Given the description of an element on the screen output the (x, y) to click on. 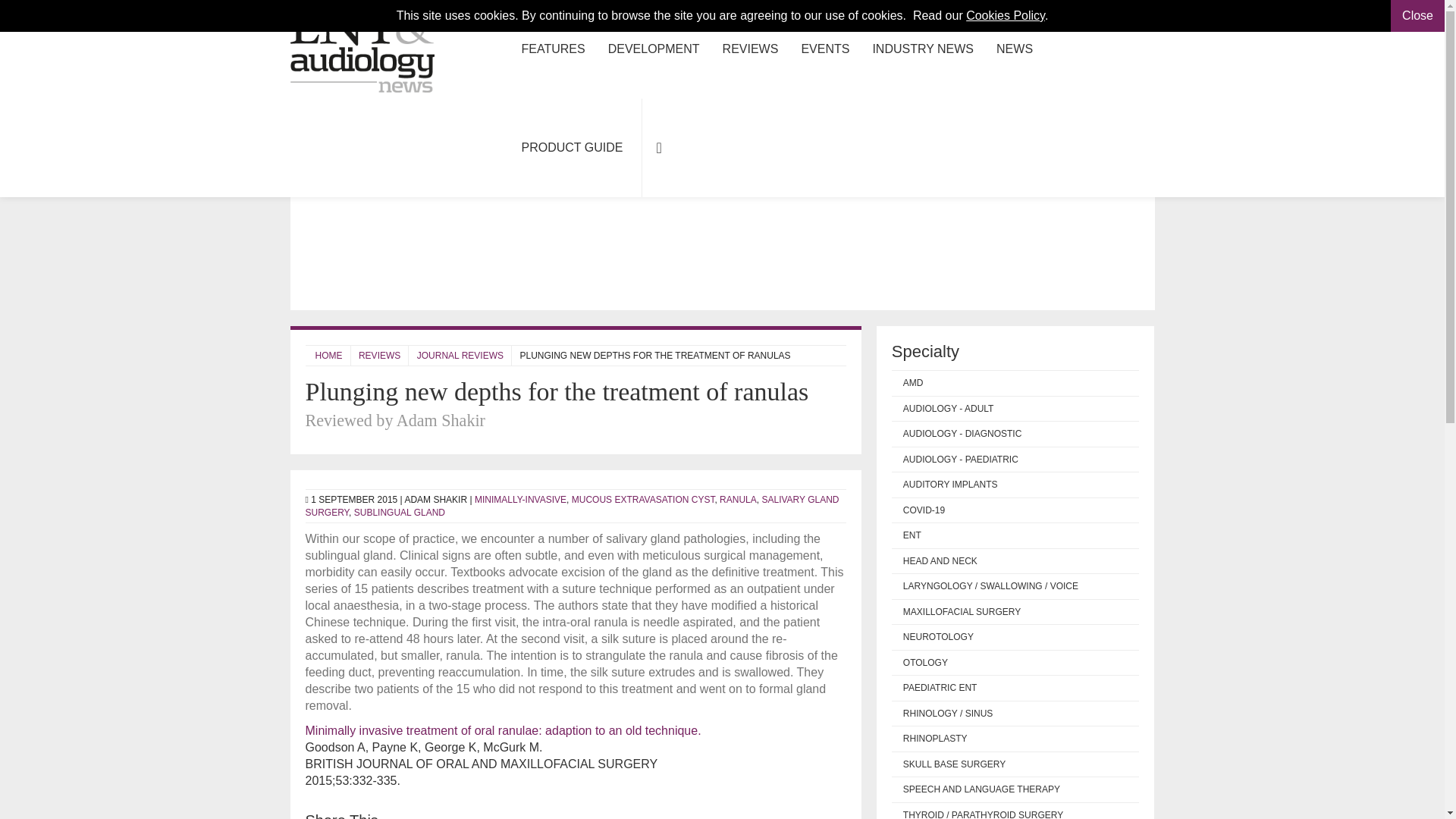
PRODUCT GUIDE (571, 147)
FEATURES (552, 49)
EVENTS (824, 49)
MINIMALLY-INVASIVE (520, 499)
Cookies Policy (1005, 15)
NEWS (1014, 49)
REVIEWS (379, 355)
JOURNAL REVIEWS (459, 355)
HOME (328, 355)
MUCOUS EXTRAVASATION CYST (643, 499)
INDUSTRY NEWS (922, 49)
REVIEWS (750, 49)
DEVELOPMENT (653, 49)
